Given the description of an element on the screen output the (x, y) to click on. 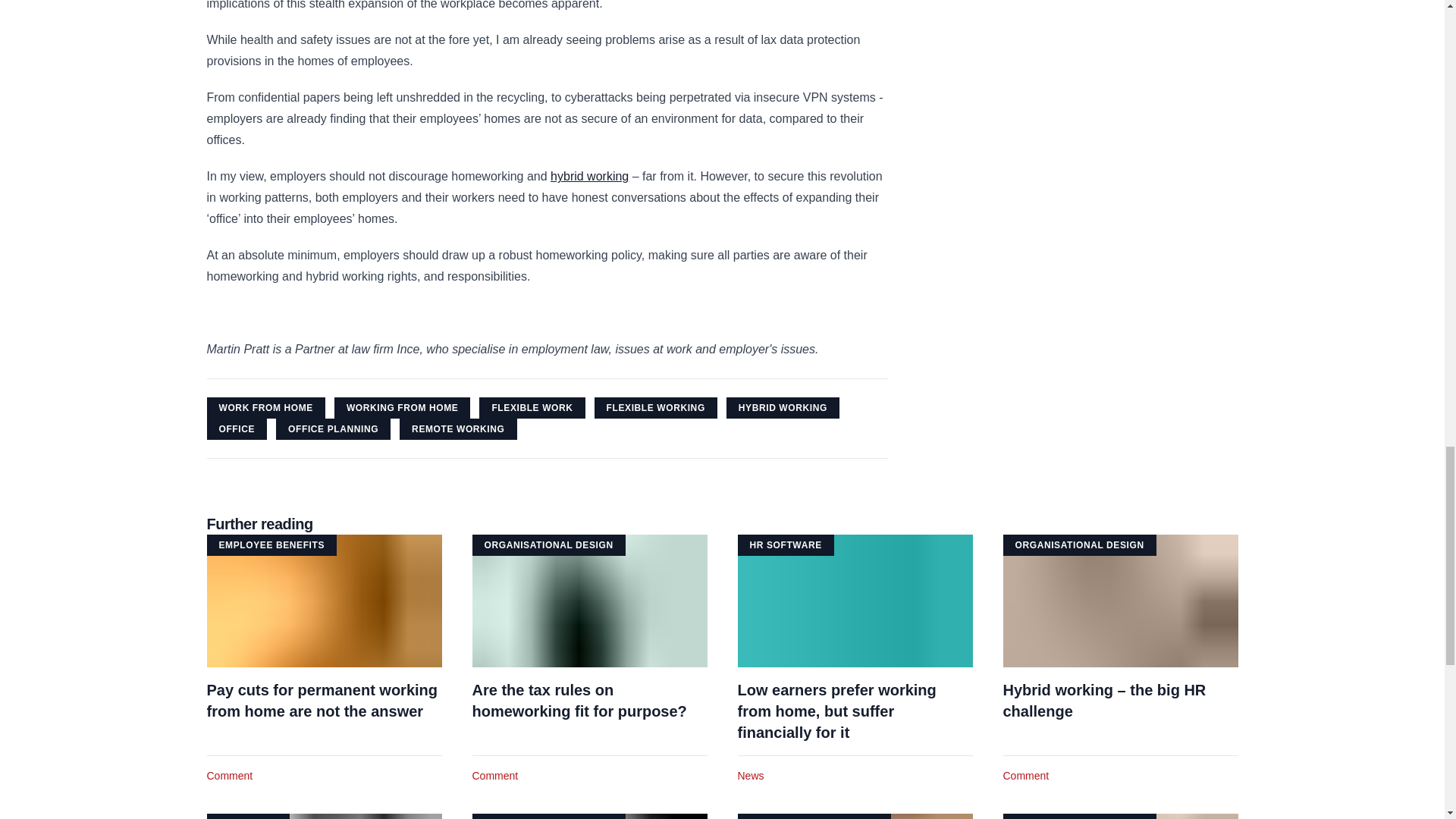
Does your hybrid working dream match the reality? (589, 175)
